Given the description of an element on the screen output the (x, y) to click on. 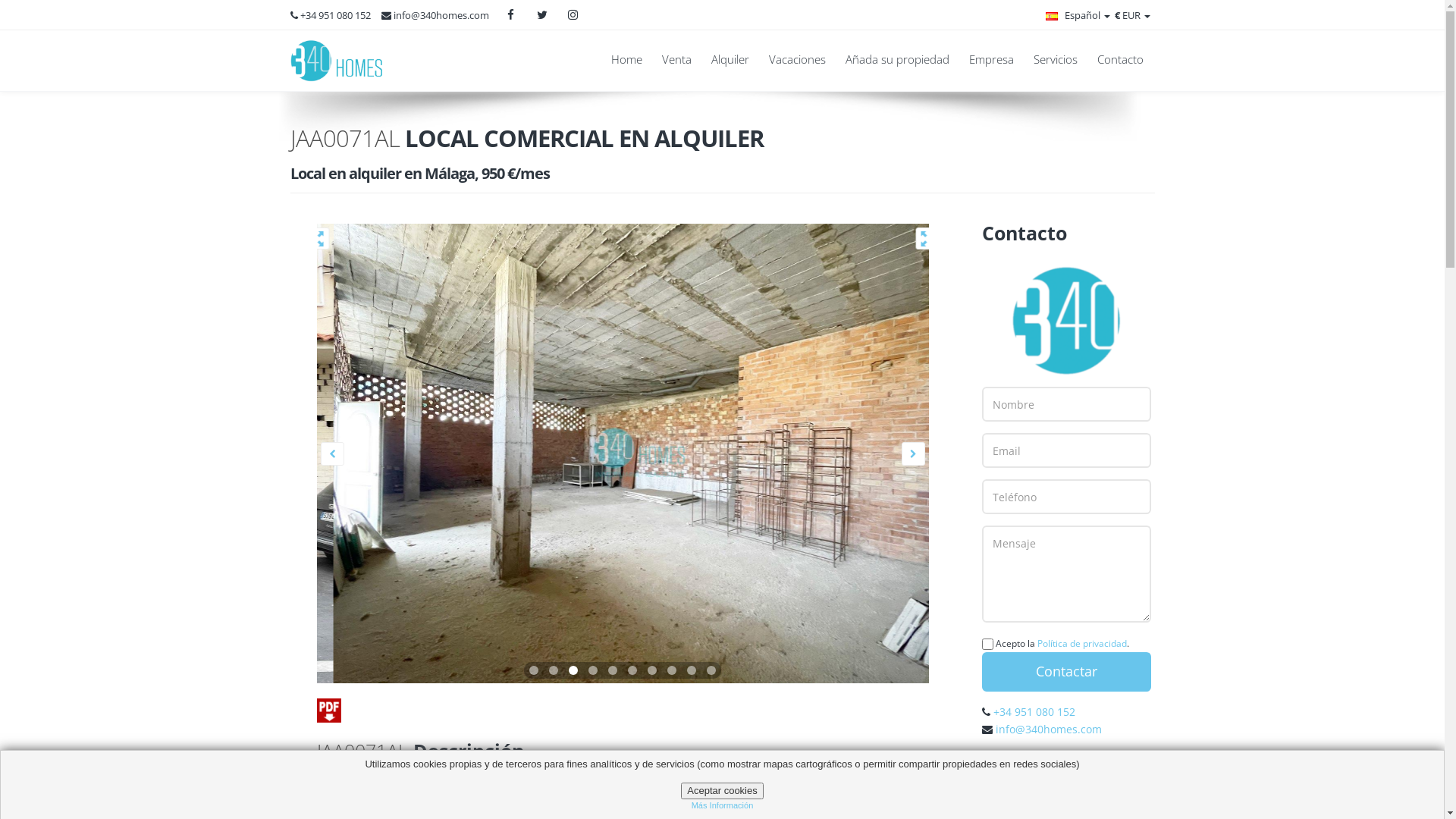
info@340homes.com Element type: text (1048, 728)
Contacto Element type: text (1114, 59)
Contactar Element type: text (1066, 671)
340 HOMES Element type: hover (336, 60)
Vacaciones Element type: text (796, 59)
Alquiler Element type: text (729, 59)
Venta Element type: text (676, 59)
Home Element type: text (625, 59)
+34 951 080 152 Element type: text (1034, 711)
Aceptar cookies Element type: text (721, 790)
info@340homes.com Element type: text (437, 14)
Empresa Element type: text (990, 59)
Servicios Element type: text (1055, 59)
+34 951 080 152 Element type: text (333, 14)
